Given the description of an element on the screen output the (x, y) to click on. 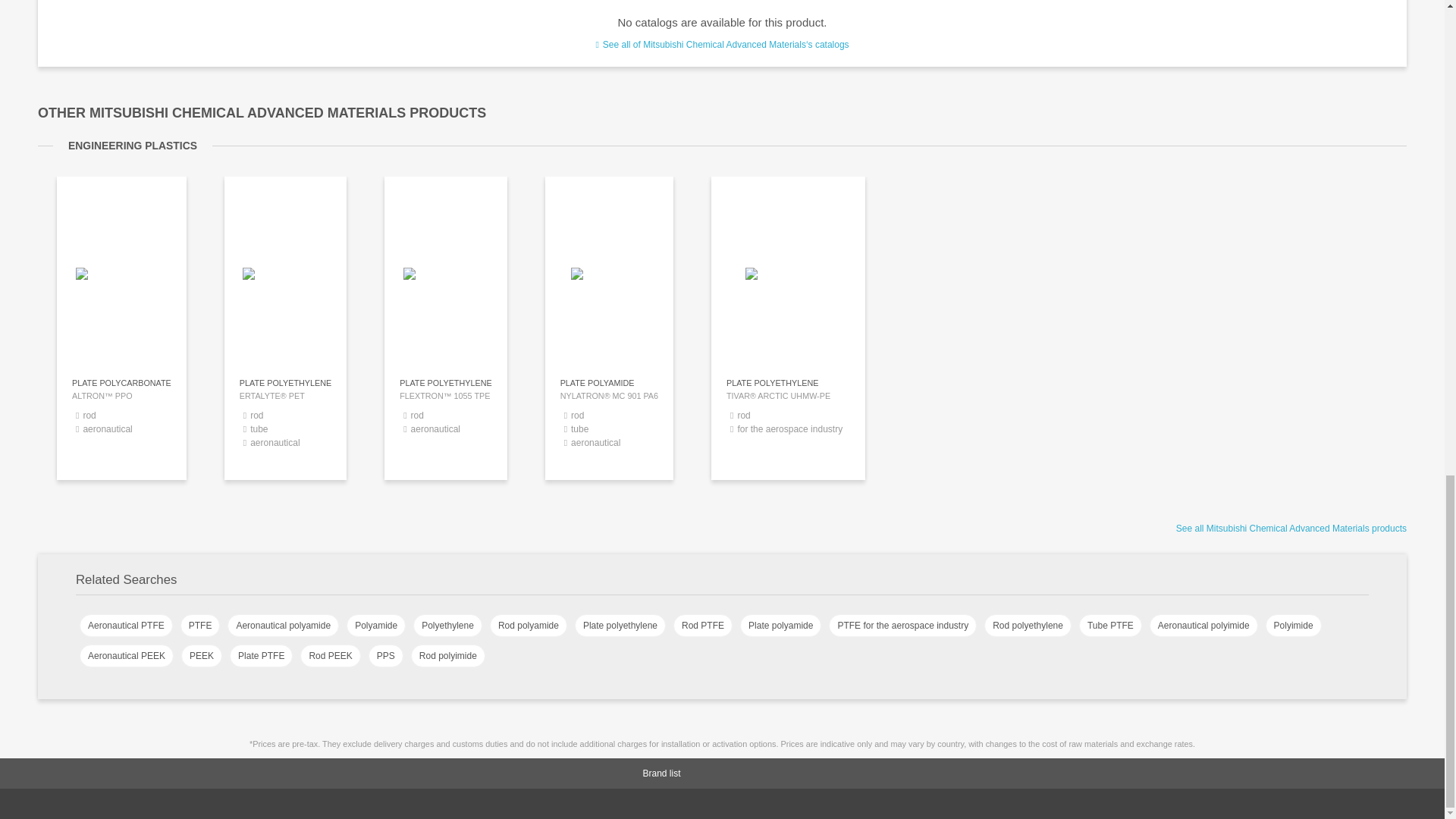
Rod PTFE (702, 625)
Aeronautical PTFE (126, 625)
PTFE (200, 625)
Polyimide (1293, 625)
Rod polyamide (528, 625)
PTFE for the aerospace industry (902, 625)
See all Mitsubishi Chemical Advanced Materials products (1291, 528)
Polyamide (376, 625)
Aeronautical polyamide (283, 625)
Polyethylene (447, 625)
